Given the description of an element on the screen output the (x, y) to click on. 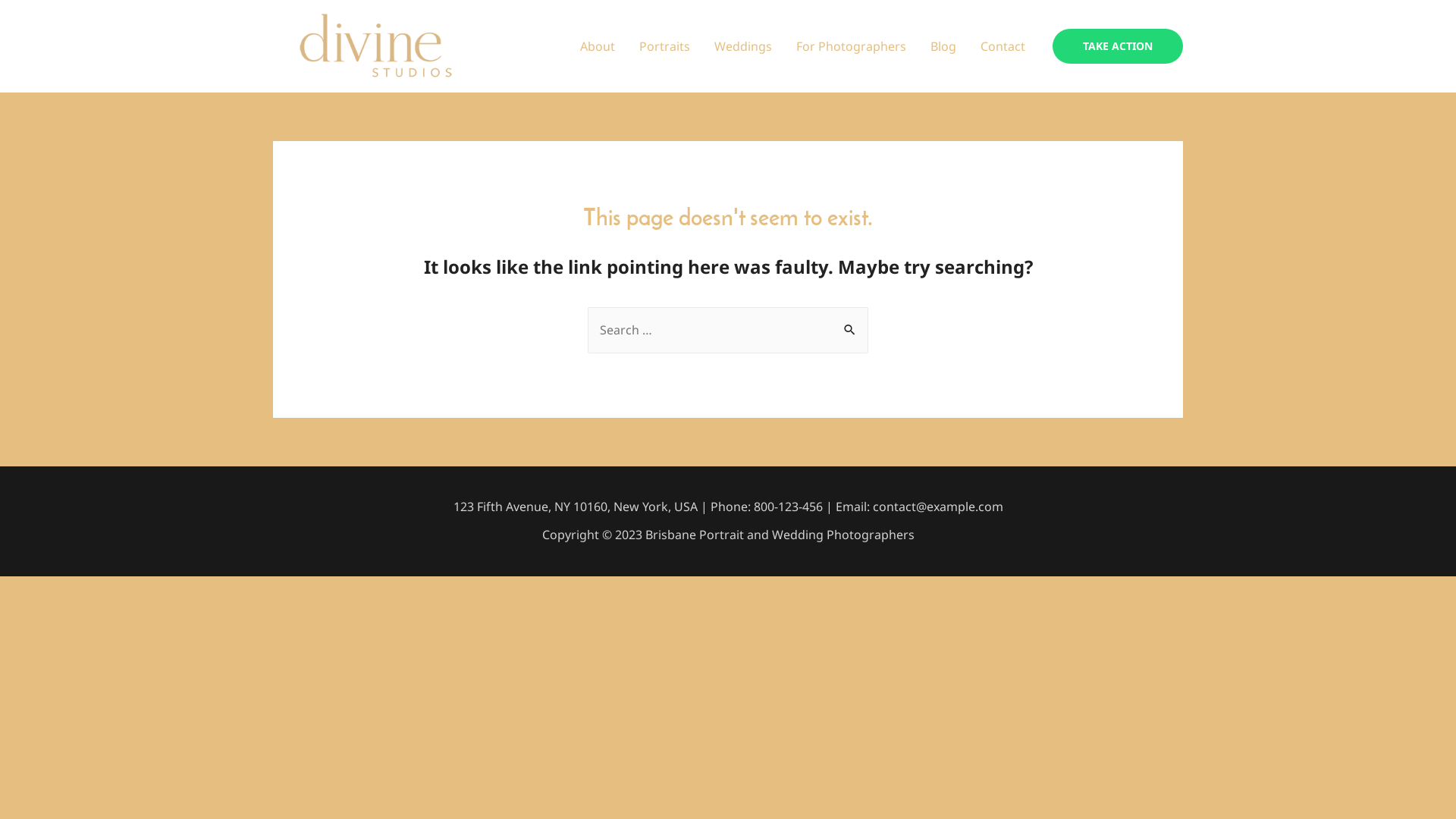
About Element type: text (597, 45)
For Photographers Element type: text (851, 45)
Blog Element type: text (943, 45)
Portraits Element type: text (664, 45)
Weddings Element type: text (743, 45)
Contact Element type: text (1002, 45)
TAKE ACTION Element type: text (1117, 45)
Search Element type: text (851, 322)
